Given the description of an element on the screen output the (x, y) to click on. 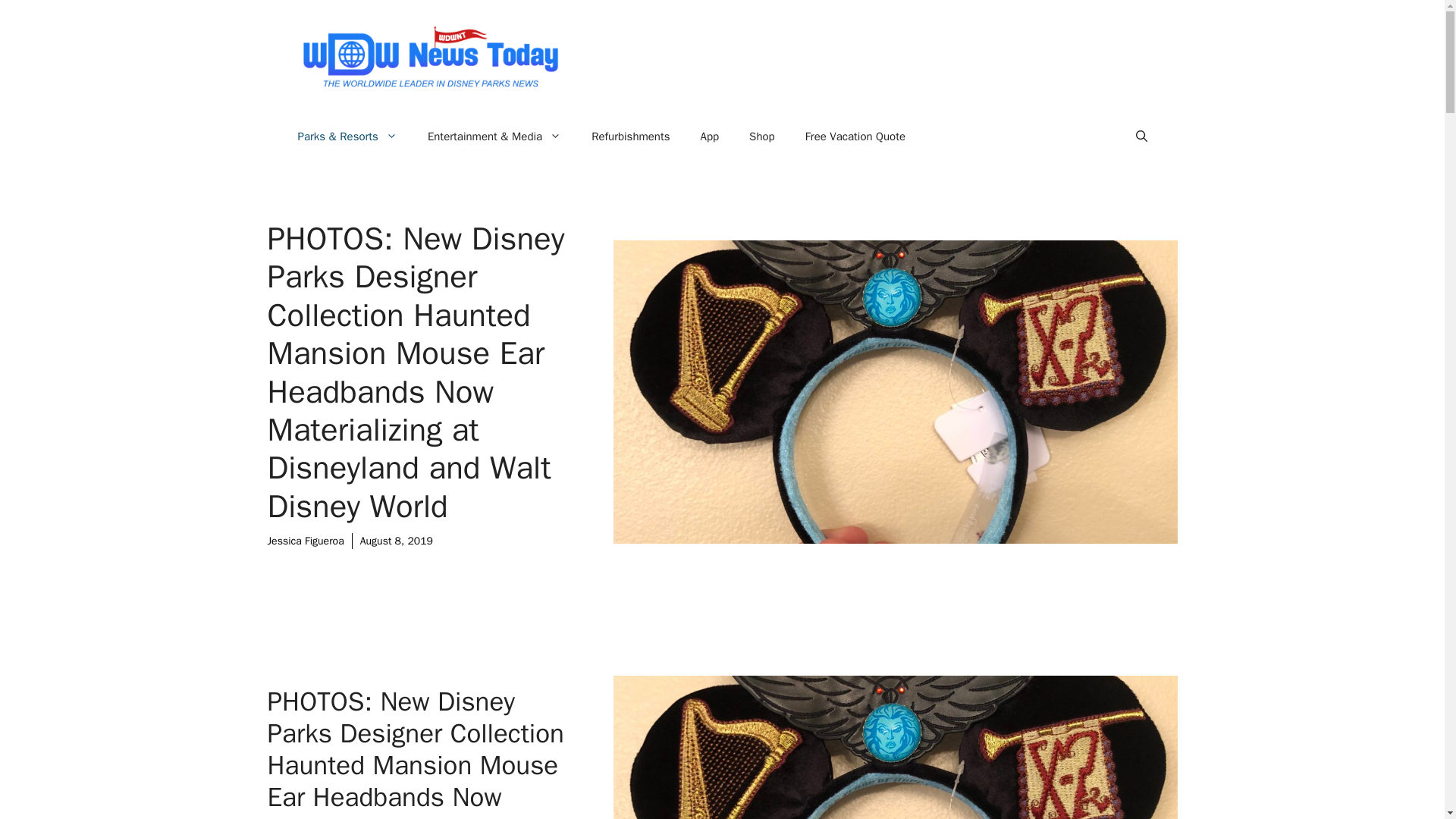
Shop (761, 135)
Refurbishments (630, 135)
Free Vacation Quote (855, 135)
App (710, 135)
